Given the description of an element on the screen output the (x, y) to click on. 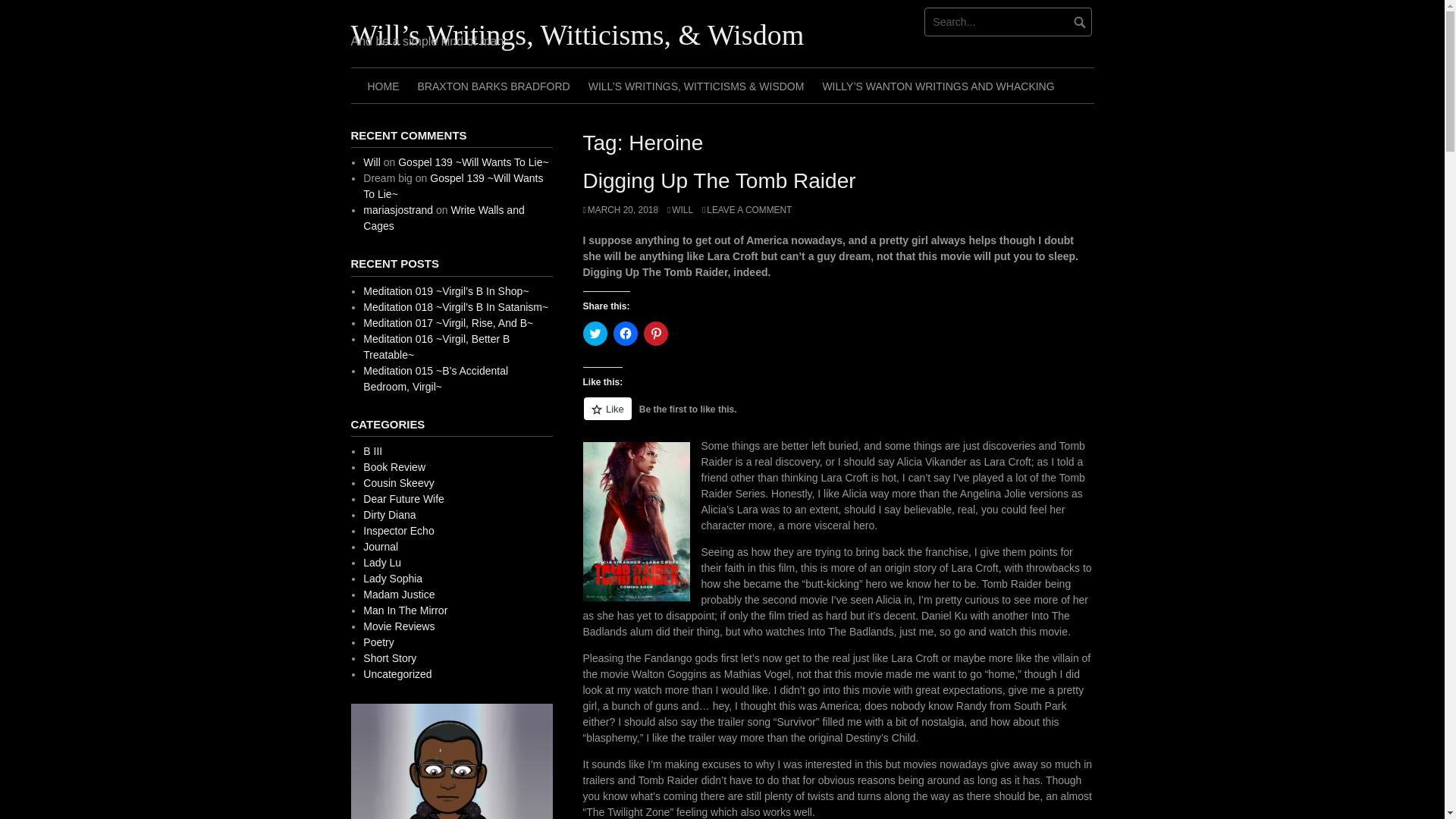
BRAXTON BARKS BRADFORD (492, 85)
WILL (679, 209)
Click to share on Facebook (624, 333)
Click to share on Pinterest (654, 333)
MARCH 20, 2018 (620, 209)
Click to share on Twitter (594, 333)
HOME (382, 85)
Search for: (1008, 21)
Digging Up The Tomb Raider (719, 180)
LEAVE A COMMENT (746, 209)
Like or Reblog (837, 417)
